Given the description of an element on the screen output the (x, y) to click on. 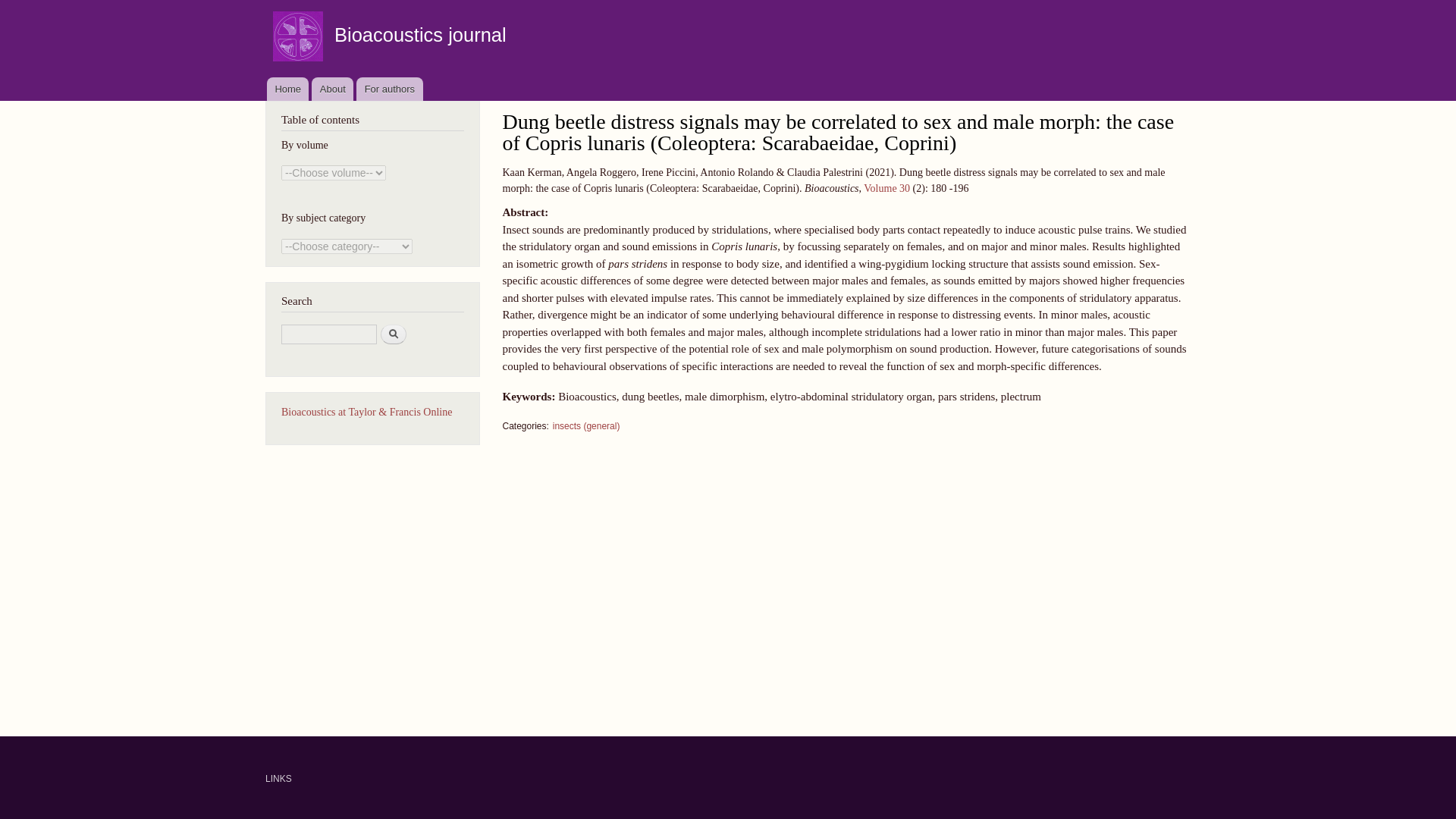
LINKS (278, 778)
Home (299, 38)
Bioacoustics journal (420, 34)
Search (393, 333)
Home (287, 88)
Volume 30 (886, 188)
Enter the keywords you wish to search for. (329, 333)
Search (393, 333)
Home (420, 34)
For authors (389, 88)
